Given the description of an element on the screen output the (x, y) to click on. 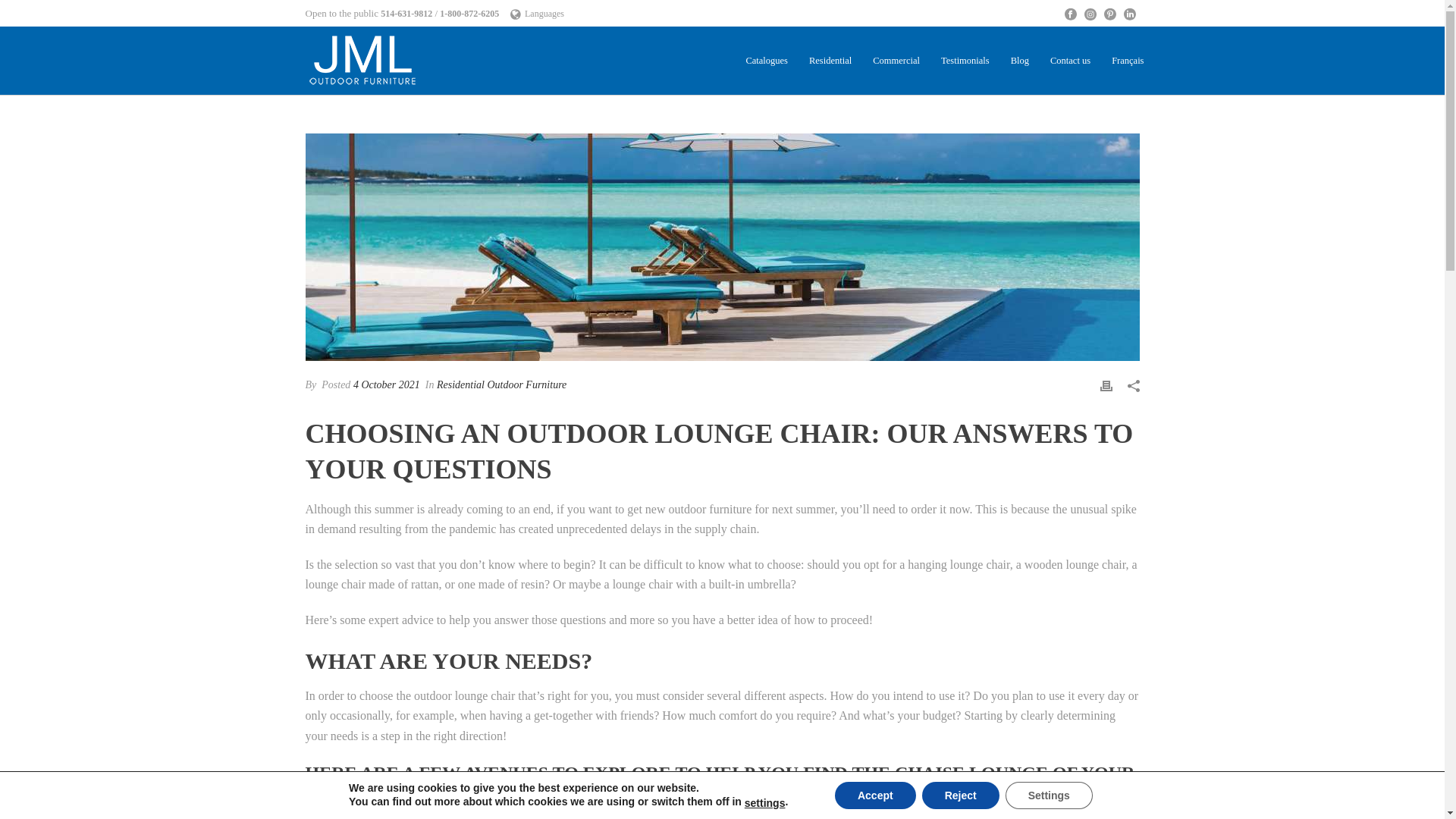
Commercial (895, 59)
Testimonials (964, 59)
1-800-872-6205 (469, 13)
Commercial (895, 59)
Catalogues (766, 59)
Blog (1019, 59)
Languages (537, 13)
Contact us (1070, 59)
Residential (829, 59)
Testimonials (964, 59)
Contact us (1070, 59)
514-631-9812 (406, 13)
Blog (1019, 59)
Catalogues (766, 59)
Residential (829, 59)
